Given the description of an element on the screen output the (x, y) to click on. 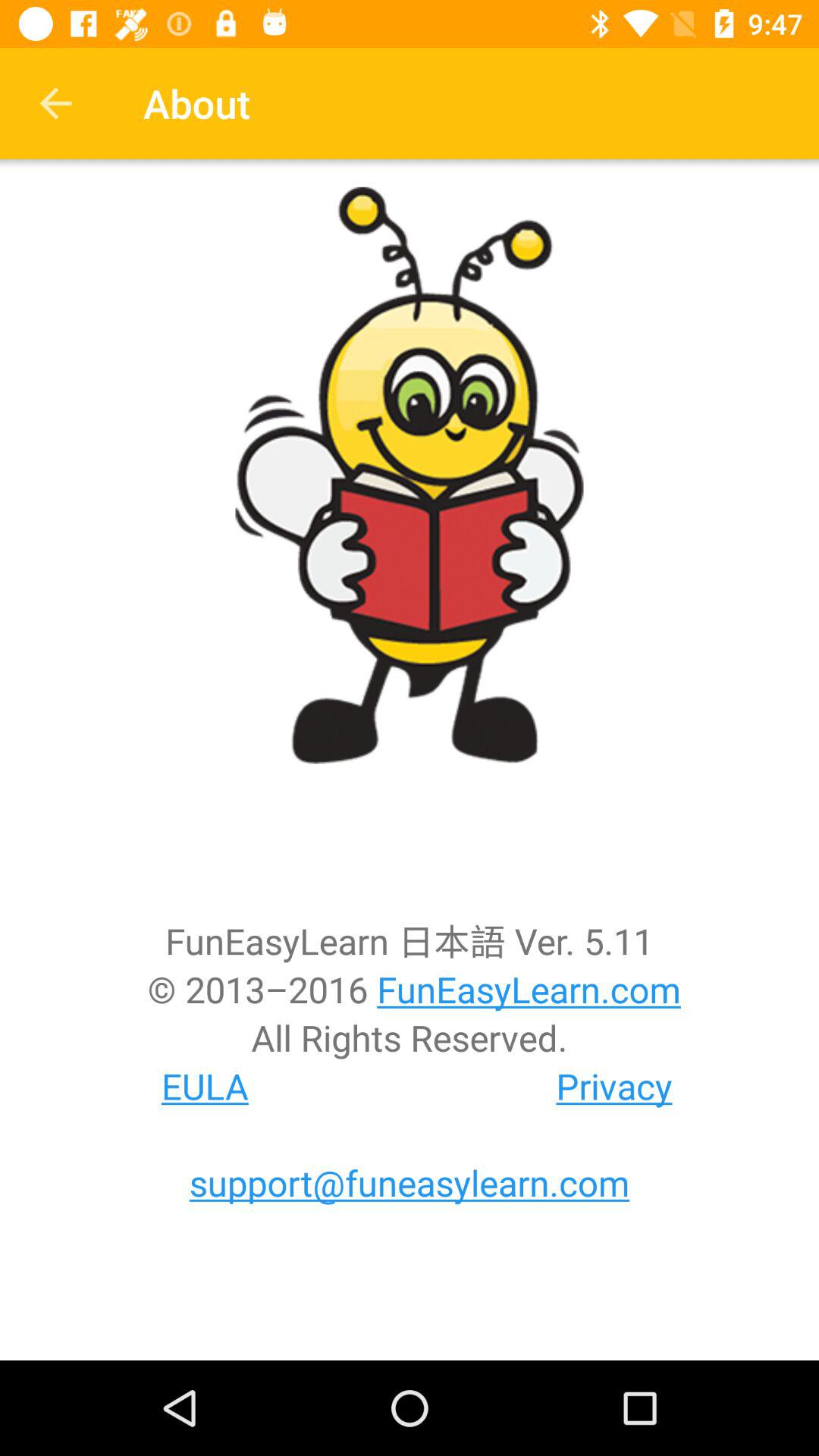
open the privacy icon (614, 1085)
